Given the description of an element on the screen output the (x, y) to click on. 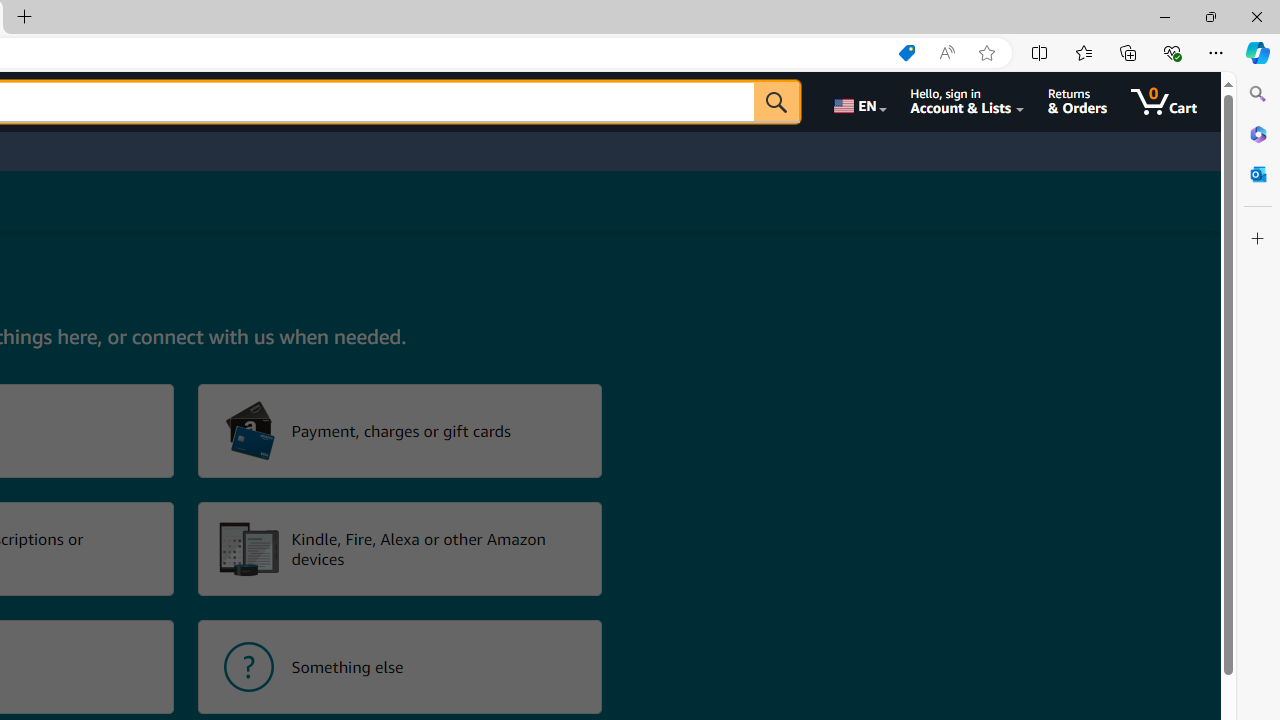
Returns & Orders (1077, 101)
Go (776, 101)
Kindle, Fire, Alexa or other Amazon devices (400, 548)
Something else (400, 666)
